Given the description of an element on the screen output the (x, y) to click on. 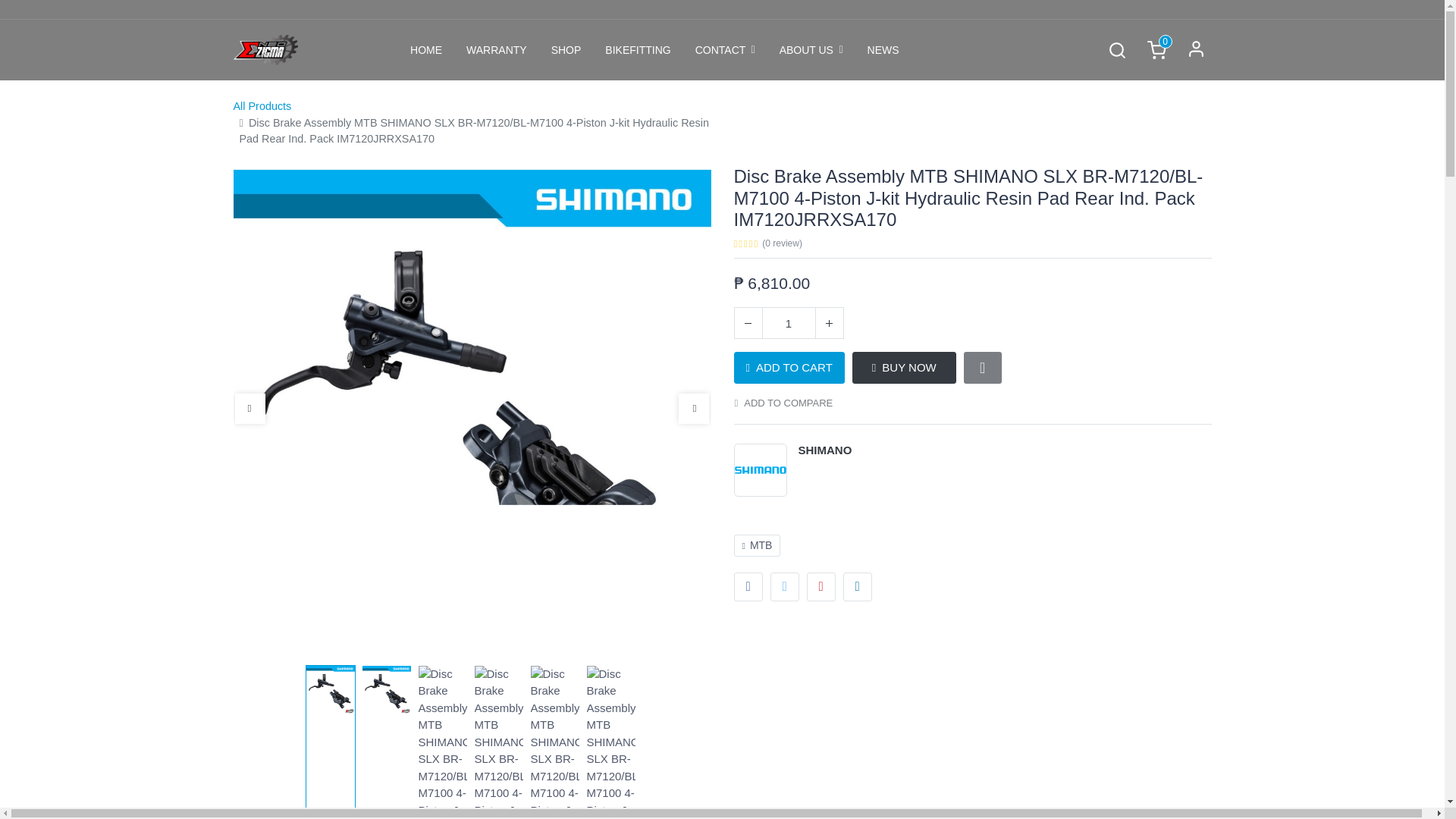
Next (693, 408)
CONTACT (724, 49)
SHOP (566, 49)
WARRANTY (496, 49)
Add one (829, 322)
ADD TO CART (788, 368)
Remove one (747, 322)
BUY NOW (903, 368)
Previous (249, 408)
Neo Zigma (265, 50)
